Given the description of an element on the screen output the (x, y) to click on. 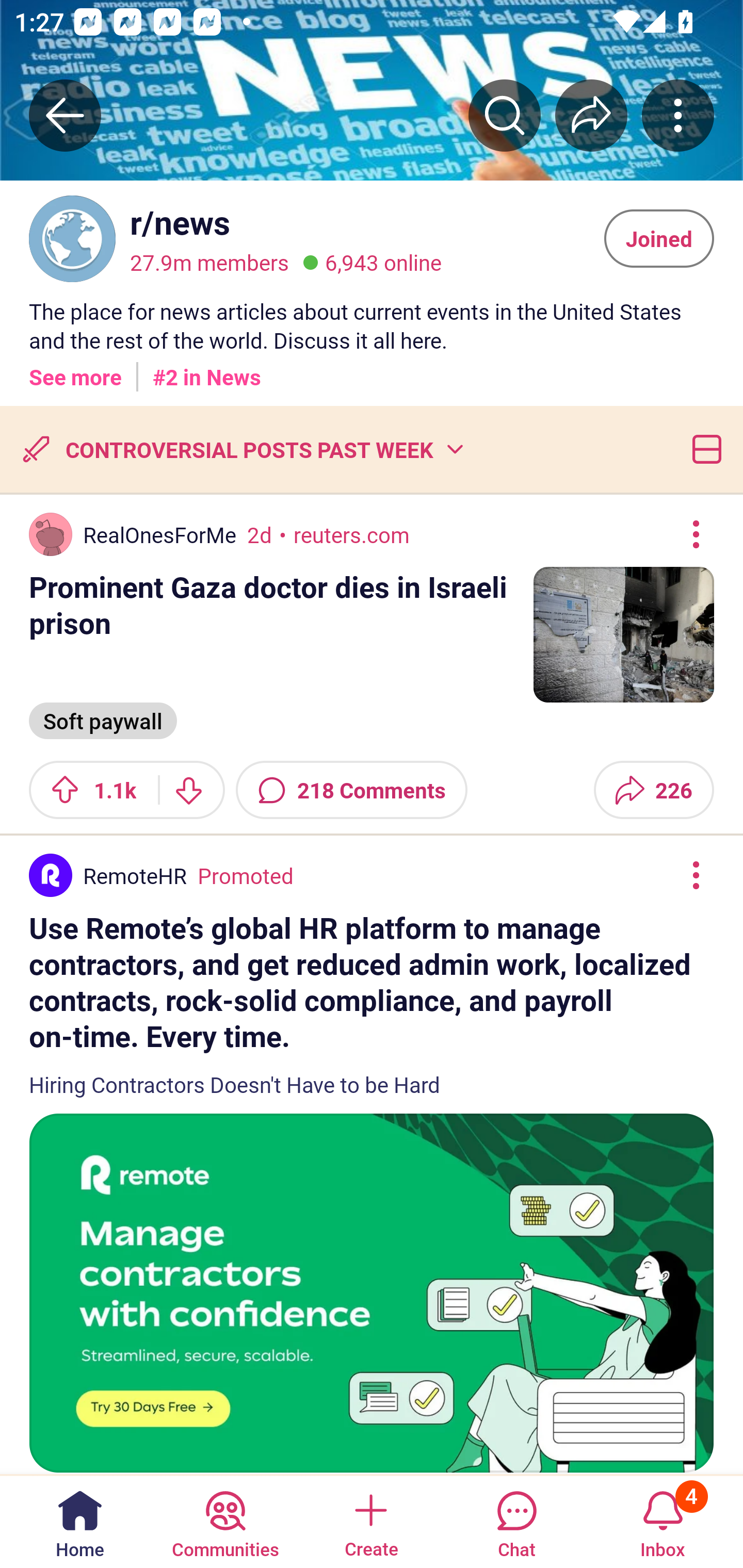
Back (64, 115)
Search r/﻿news (504, 115)
Share r/﻿news (591, 115)
More community actions (677, 115)
Controversial posts CONTROVERSIAL POSTS PAST WEEK (241, 449)
Card (703, 449)
Soft paywall (102, 718)
Home (80, 1520)
Communities (225, 1520)
Create a post Create (370, 1520)
Chat (516, 1520)
Inbox, has 4 notifications 4 Inbox (662, 1520)
